Given the description of an element on the screen output the (x, y) to click on. 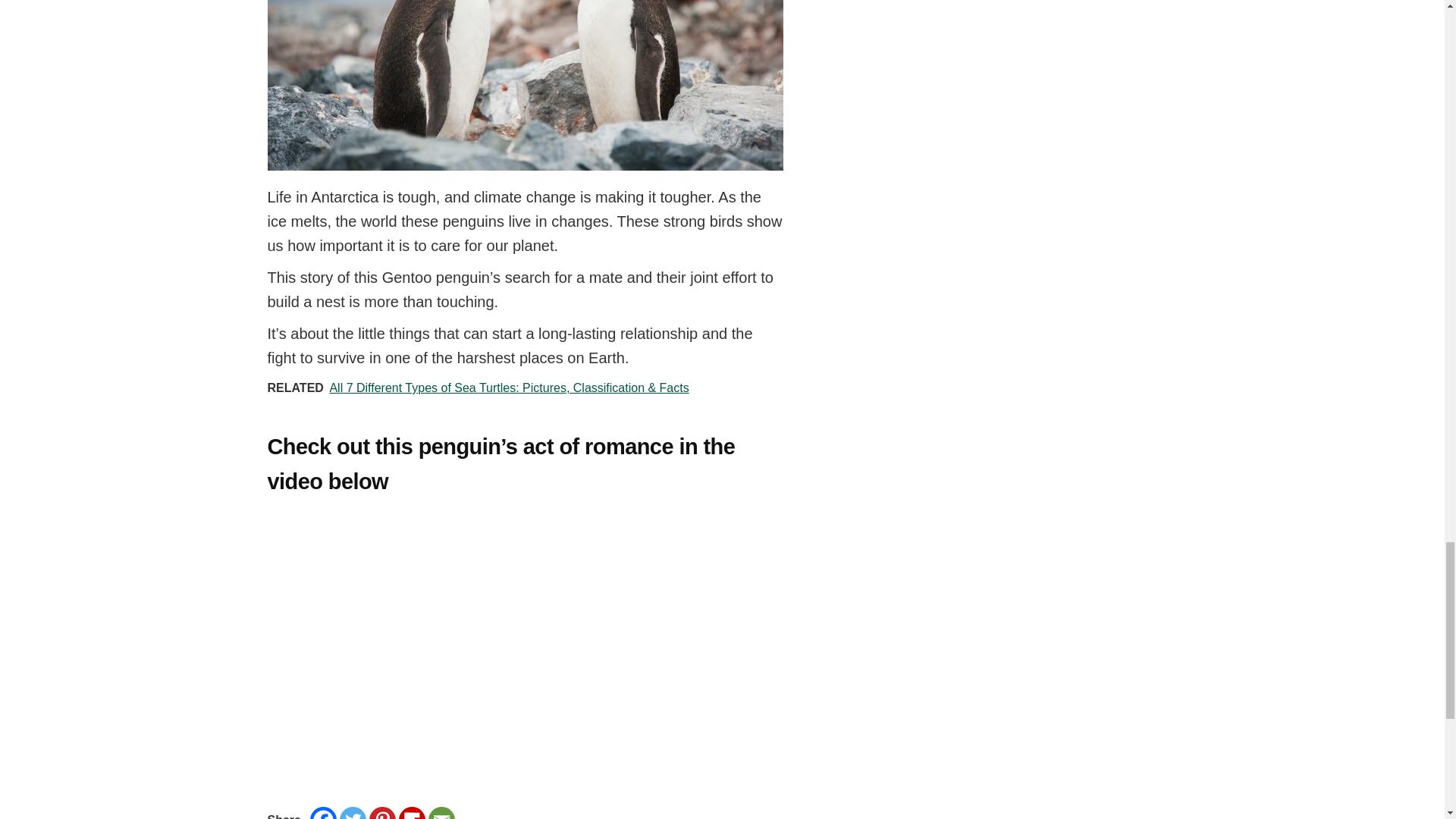
Email (441, 812)
Flipboard (411, 812)
Facebook (323, 812)
Pinterest (382, 812)
Twitter (352, 812)
